Given the description of an element on the screen output the (x, y) to click on. 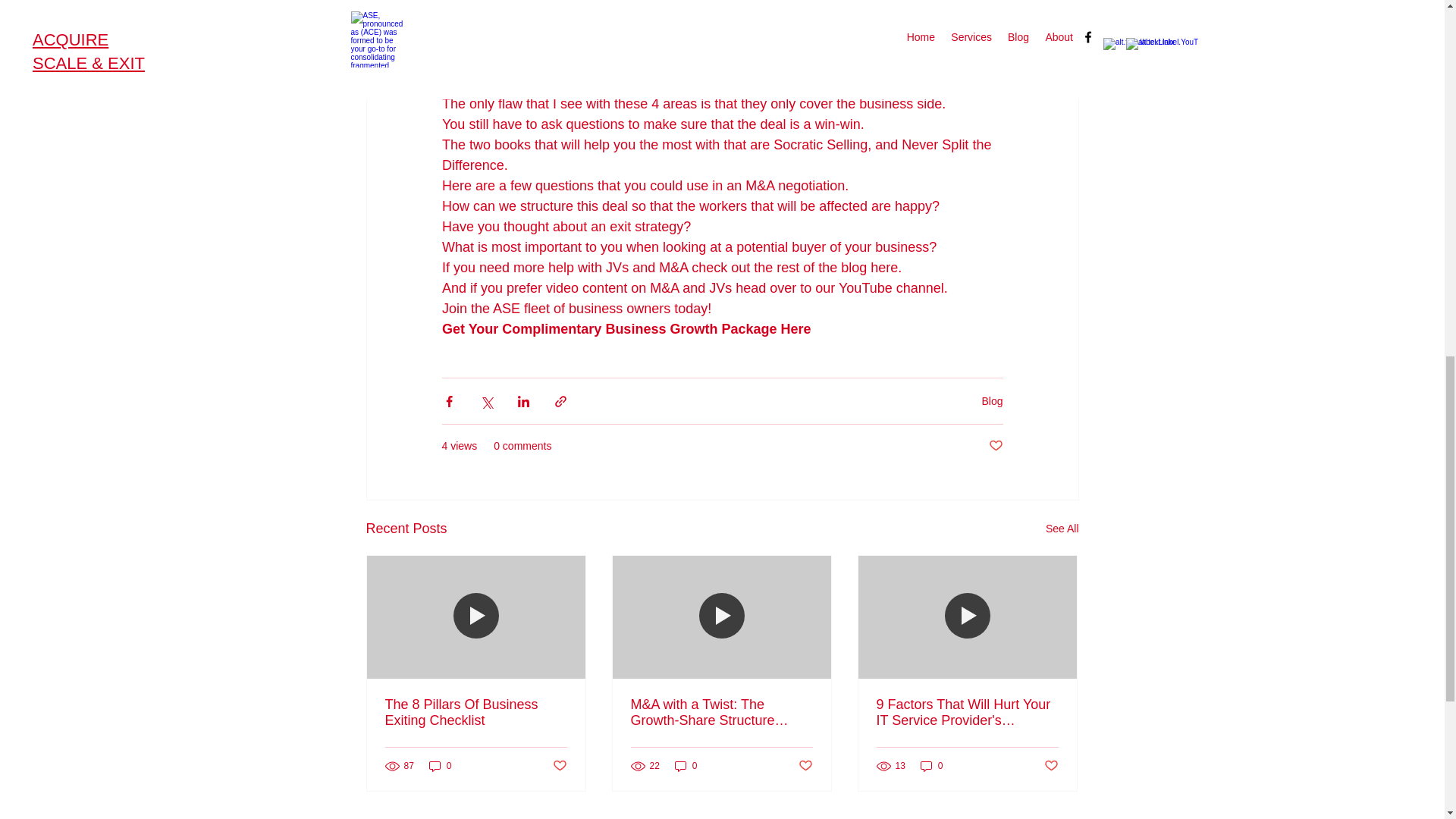
blog here. (871, 267)
Never Split the Difference (717, 154)
See All (1061, 528)
YouTube channel.  (895, 287)
Get Your Complimentary Business Growth Package Here (625, 328)
Post not marked as liked (558, 765)
Post not marked as liked (1050, 765)
Socratic Selling (820, 144)
Post not marked as liked (804, 765)
The 8 Pillars Of Business Exiting Checklist (476, 712)
0 (931, 766)
0 (685, 766)
Blog (992, 400)
Post not marked as liked (995, 446)
0 (440, 766)
